Given the description of an element on the screen output the (x, y) to click on. 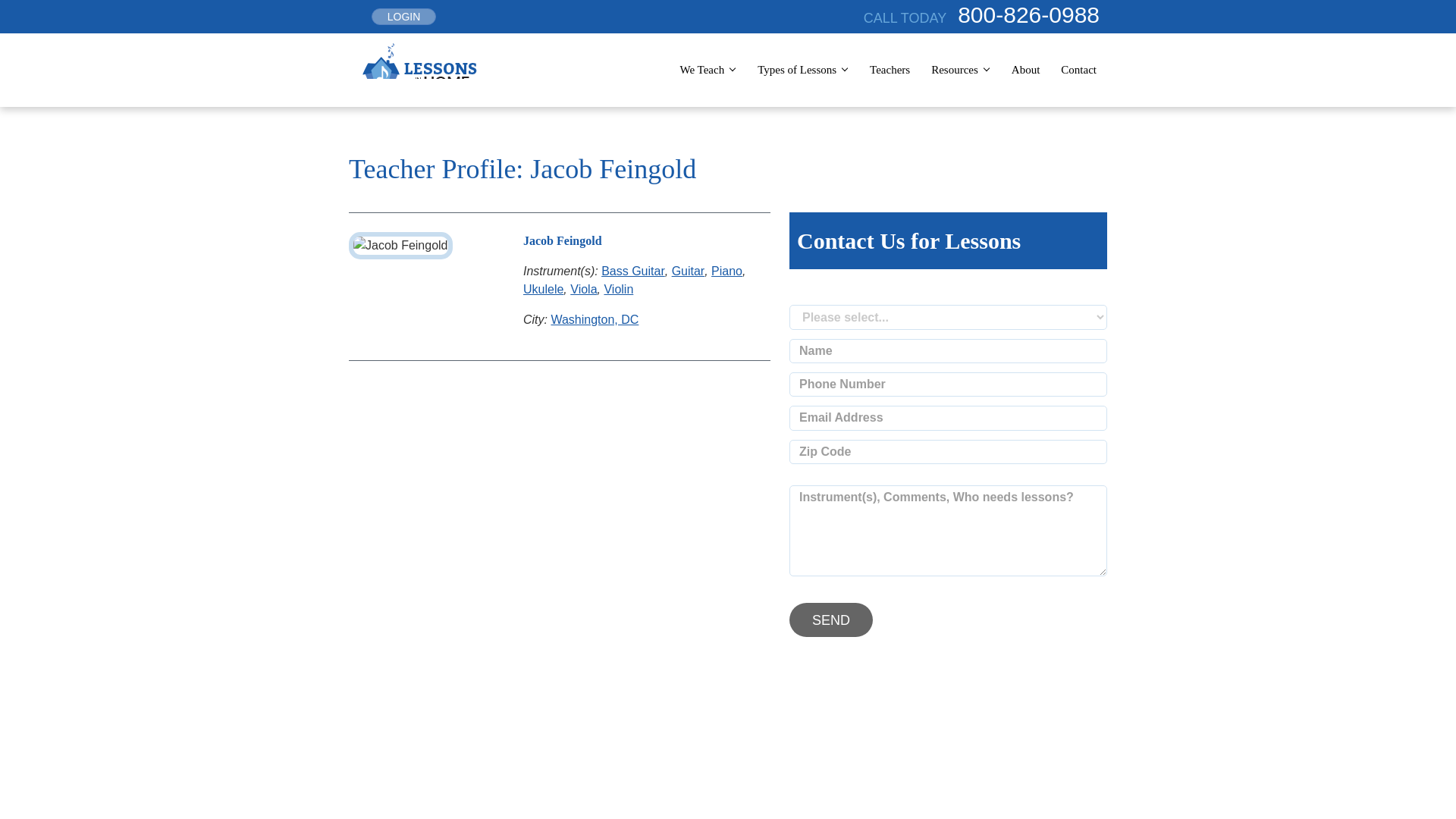
Guitar (687, 269)
Bass Guitar (633, 269)
Send (830, 619)
LOGIN (403, 16)
Resources (956, 70)
Washington, DC (594, 318)
We Teach (703, 70)
Teachers (889, 70)
800-826-0988 (1032, 14)
Send (830, 619)
Violin (618, 287)
About (1026, 70)
Piano (726, 269)
Ukulele (542, 287)
Types of Lessons (798, 70)
